Given the description of an element on the screen output the (x, y) to click on. 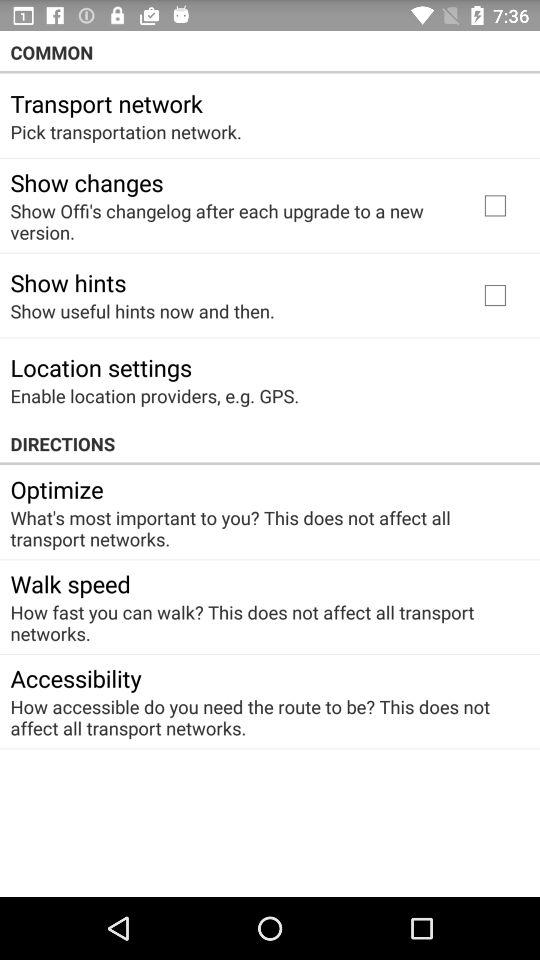
launch the show changes item (86, 182)
